Given the description of an element on the screen output the (x, y) to click on. 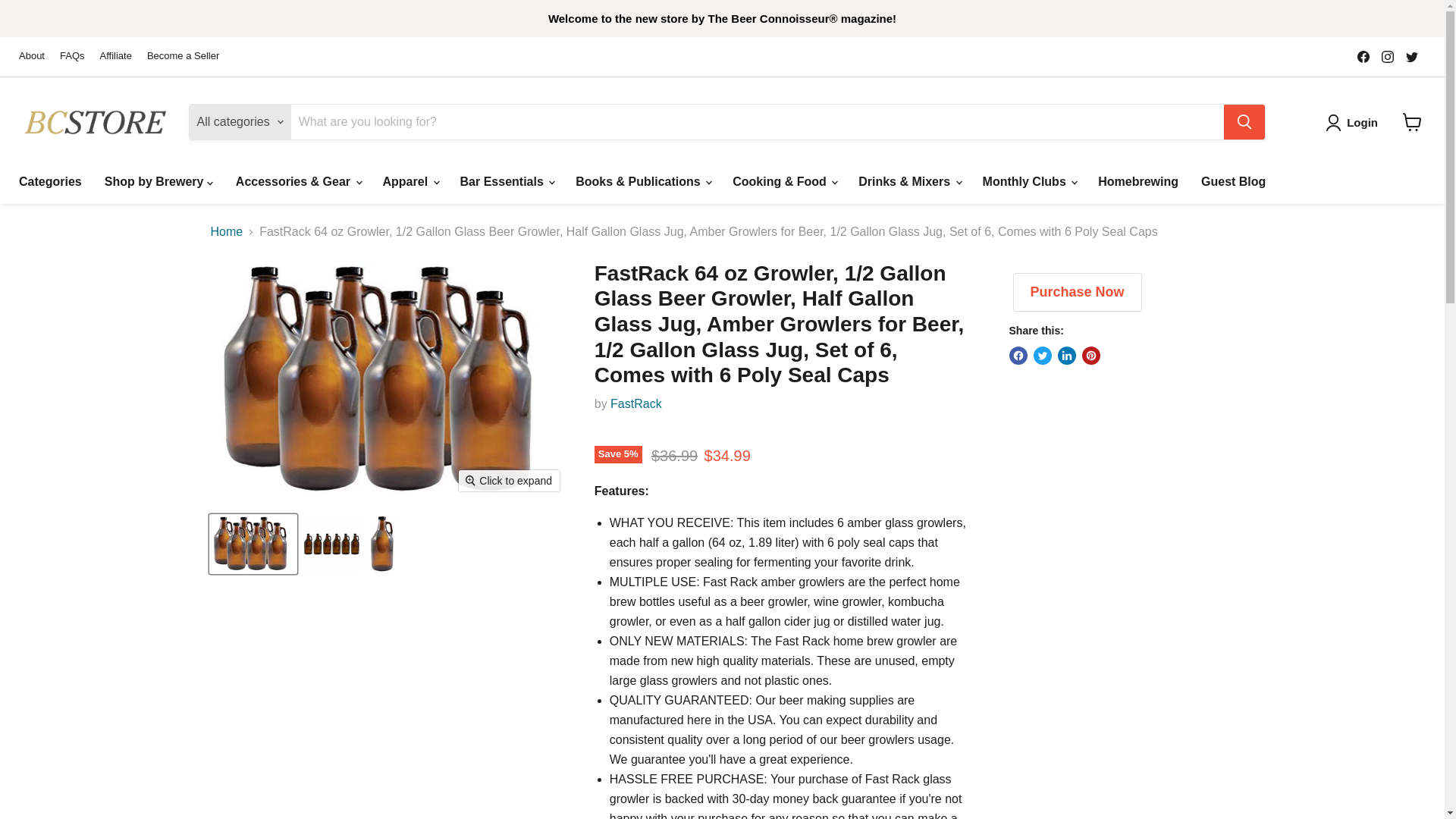
Twitter (1411, 55)
View cart (1411, 121)
Become a Seller (183, 56)
Facebook (1363, 55)
Instagram (1387, 55)
Find us on Facebook (1363, 55)
FastRack (636, 403)
Find us on Twitter (1411, 55)
Find us on Instagram (1387, 55)
Login (1362, 122)
